Given the description of an element on the screen output the (x, y) to click on. 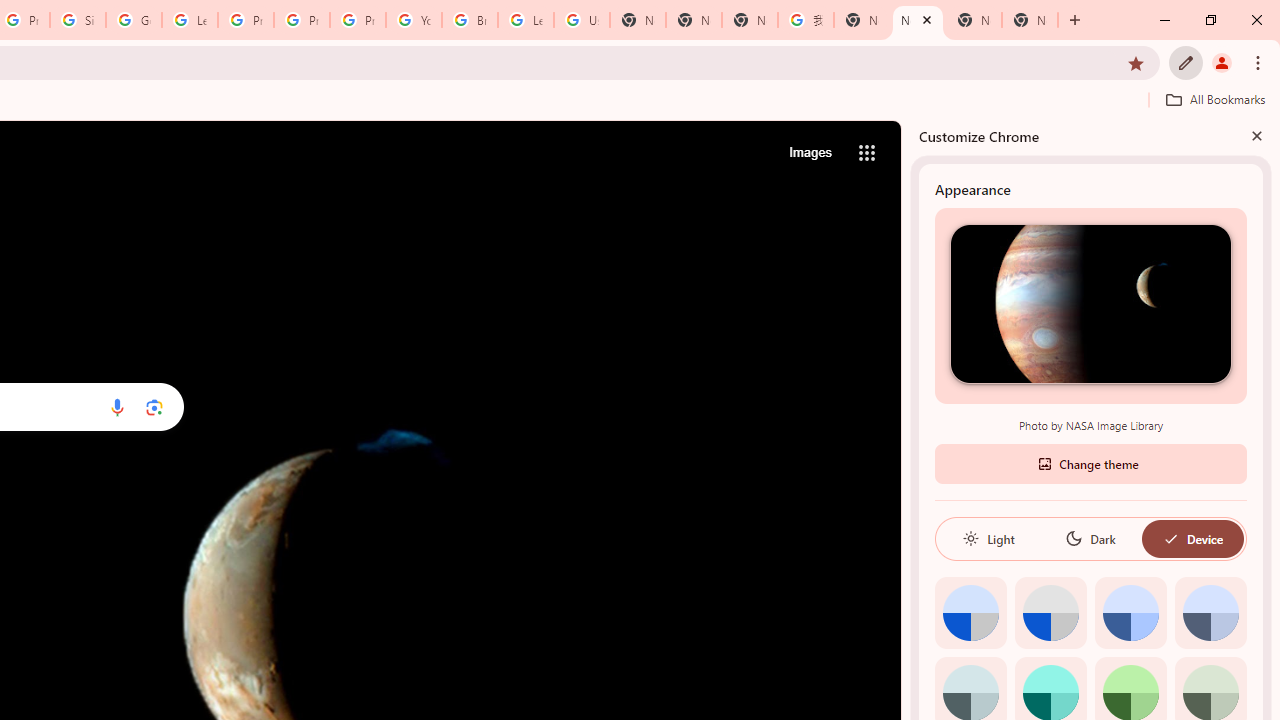
Sign in - Google Accounts (77, 20)
